Given the description of an element on the screen output the (x, y) to click on. 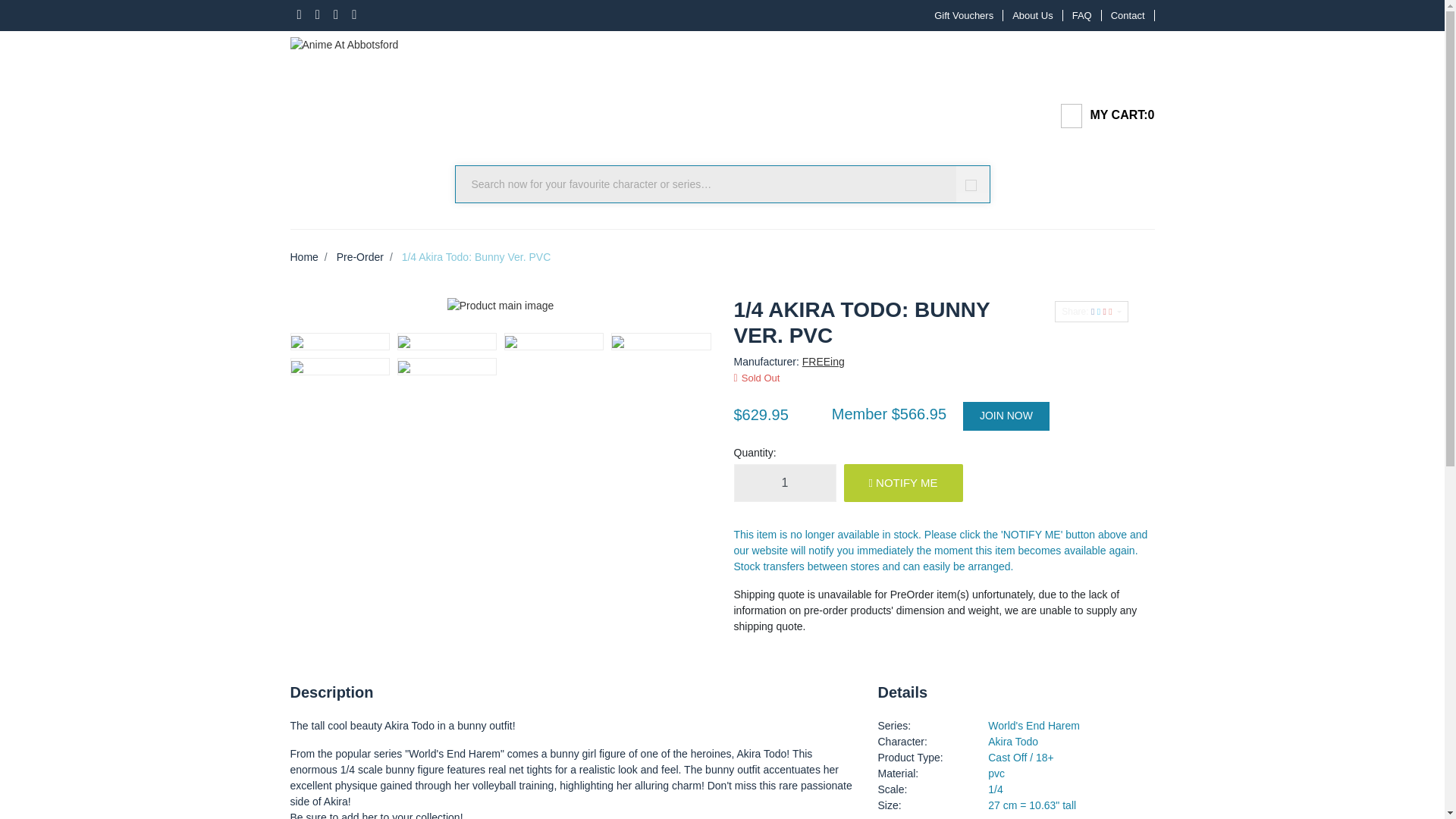
Gift Vouchers (963, 15)
MY CART:0 (1101, 116)
Contact (1128, 15)
FAQ (1082, 15)
Anime At Abbotsford (343, 40)
About Us (1032, 15)
1 (784, 483)
